Given the description of an element on the screen output the (x, y) to click on. 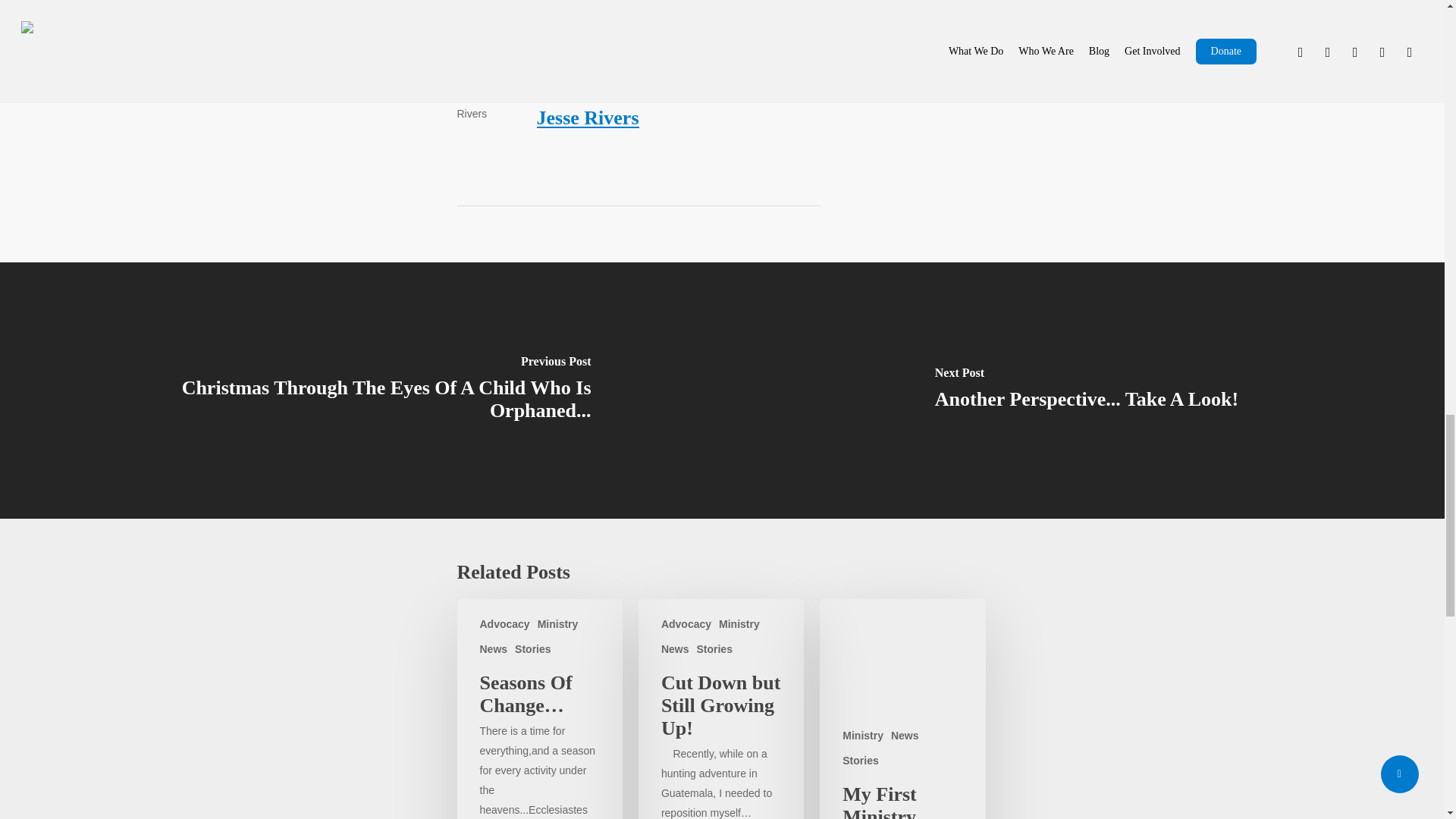
Twitter (484, 2)
Click to share on LinkedIn (621, 2)
Click to share on Facebook (550, 2)
Facebook (550, 2)
LinkedIn (621, 2)
Jesse Rivers (588, 117)
Click to share on Twitter (484, 2)
